Given the description of an element on the screen output the (x, y) to click on. 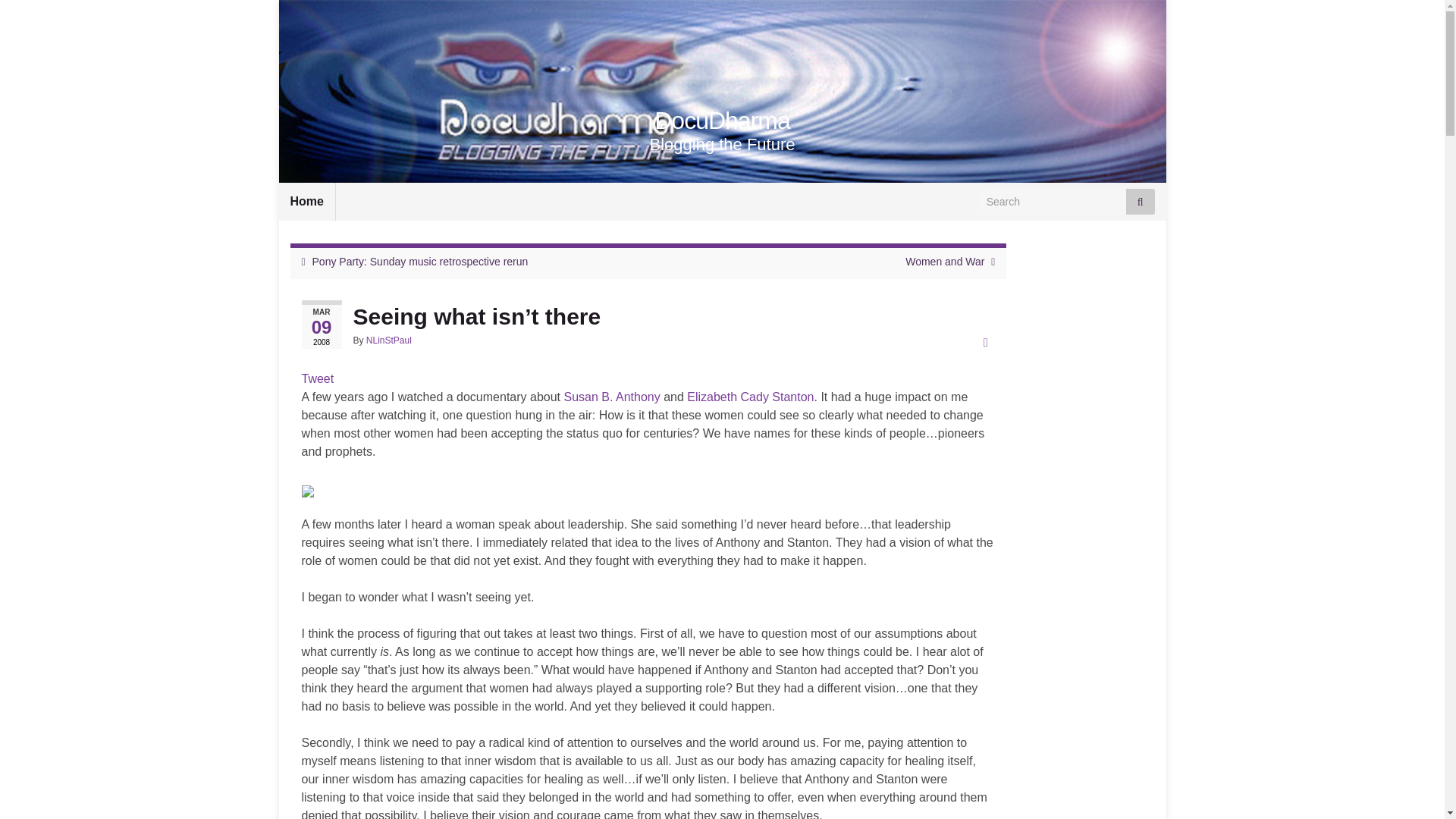
DocuDharma (721, 120)
Elizabeth Cady Stanton (750, 396)
Women and War (944, 261)
Pony Party: Sunday music retrospective rerun (420, 261)
Susan B. Anthony (611, 396)
Home (306, 201)
Tweet (317, 378)
NLinStPaul (389, 339)
Go back to the front page (721, 120)
